Given the description of an element on the screen output the (x, y) to click on. 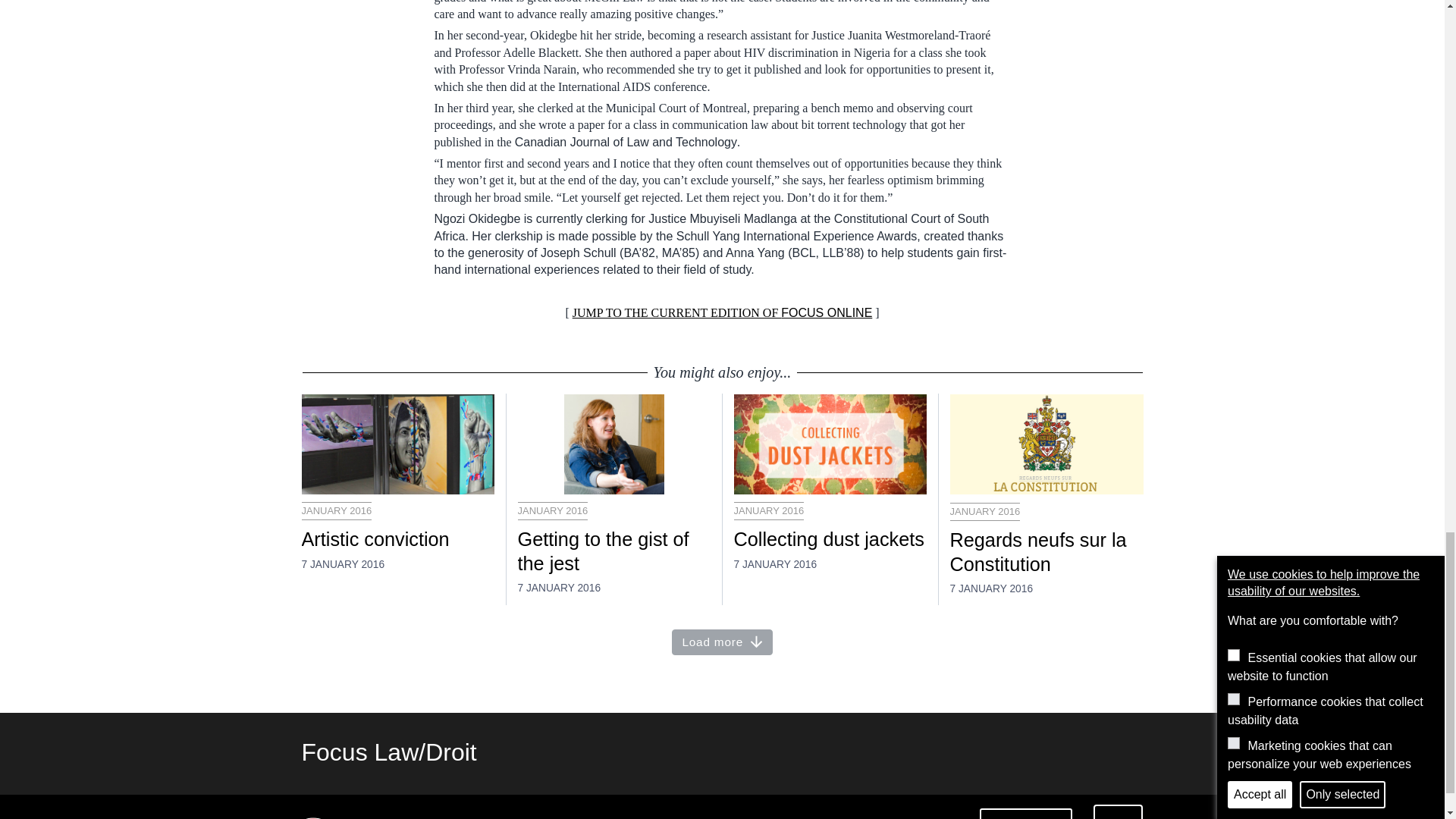
Getting to the gist of the jest (613, 551)
Cookie settings (1025, 813)
JANUARY 2016 (336, 511)
JANUARY 2016 (769, 511)
Artistic conviction (398, 539)
Collecting dust jackets (829, 539)
JANUARY 2016 (552, 511)
Regards neufs sur la Constitution (1045, 552)
McGill University (355, 816)
login (1117, 811)
JUMP TO THE CURRENT EDITION OF FOCUS ONLINE (722, 312)
Load more (722, 642)
Home (389, 751)
JANUARY 2016 (984, 511)
